Given the description of an element on the screen output the (x, y) to click on. 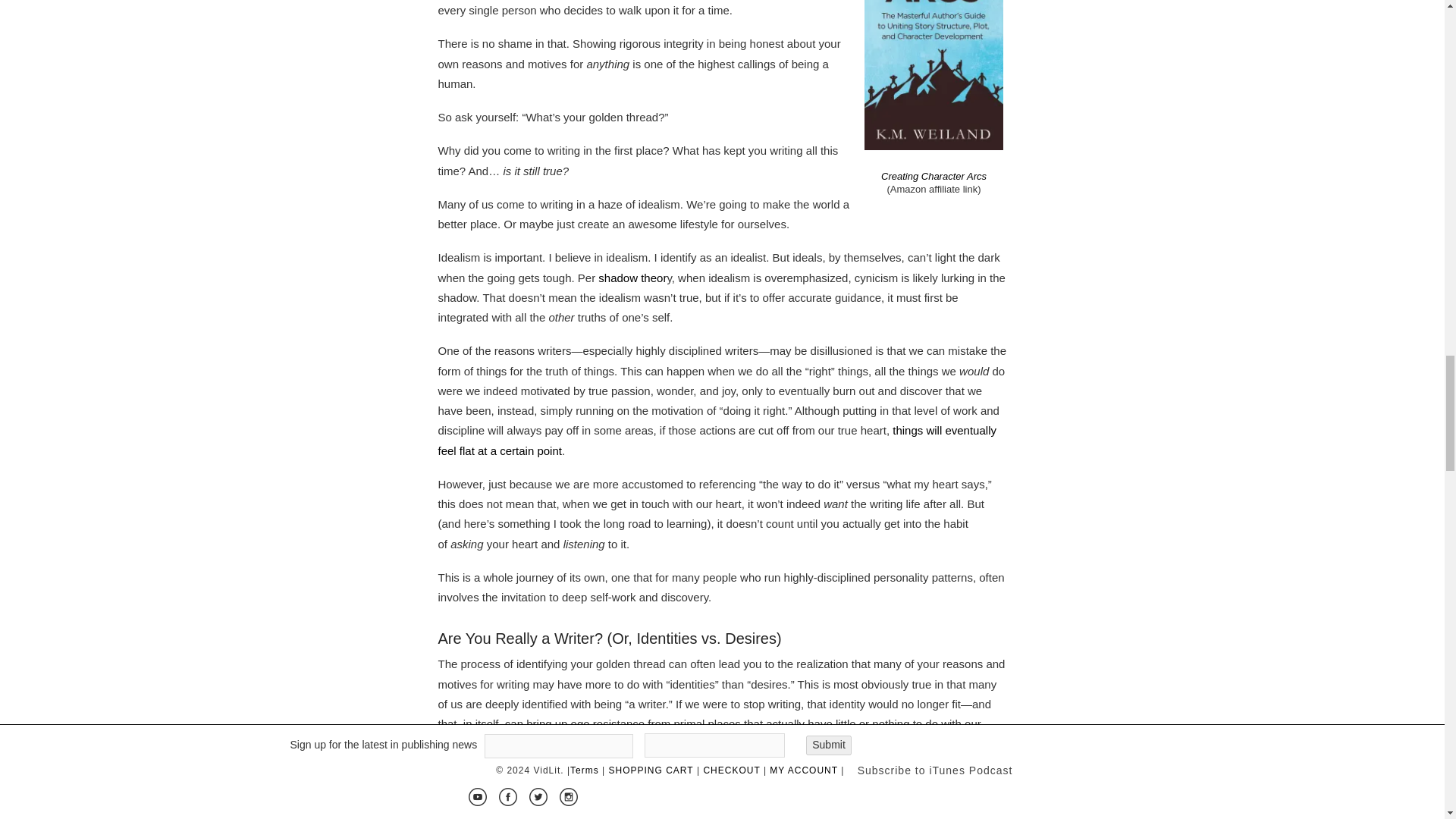
Creating Character Arcs (933, 175)
shadow theor (632, 277)
things will eventually feel flat at a certain point (716, 440)
